Given the description of an element on the screen output the (x, y) to click on. 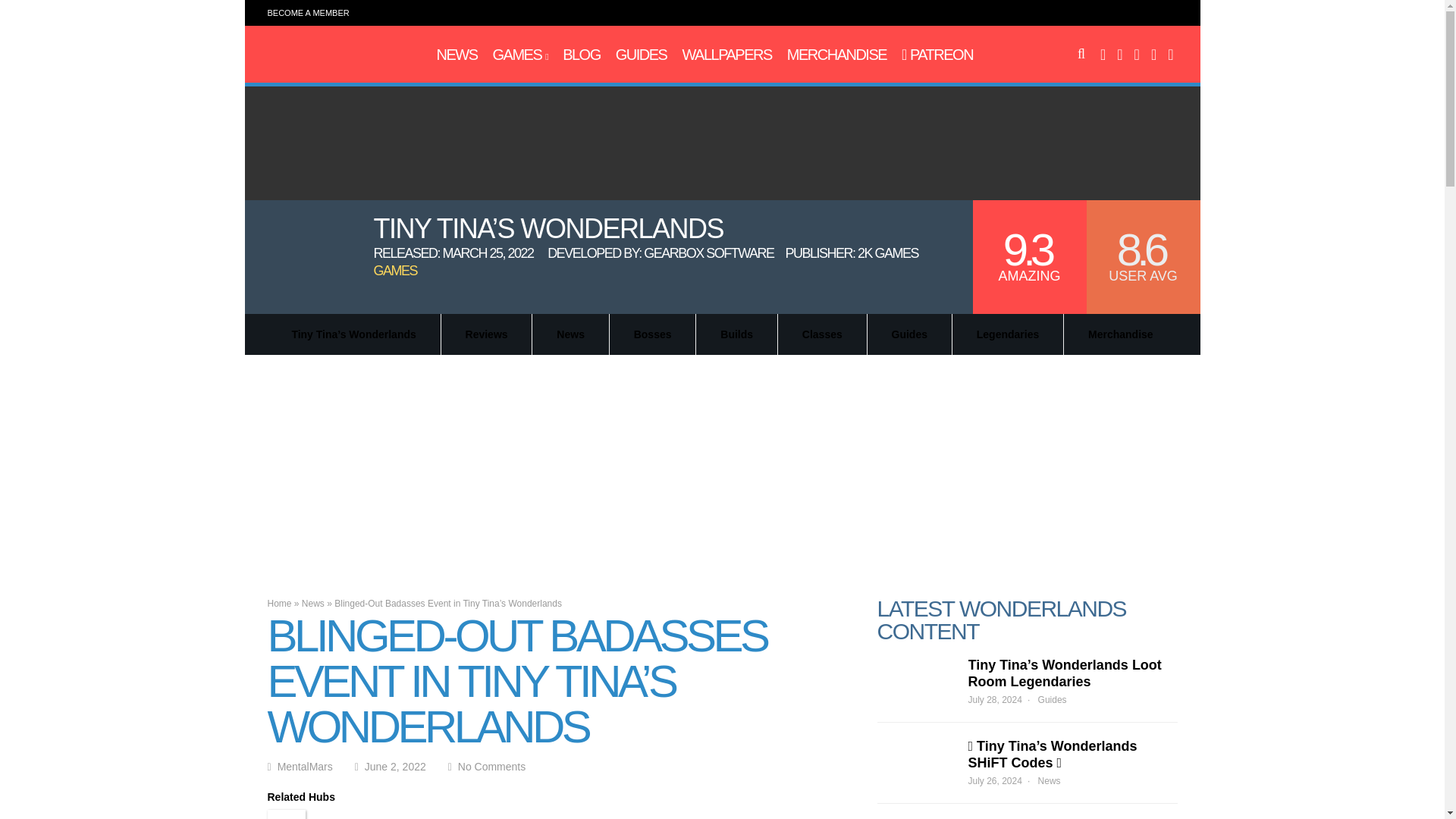
MERCHANDISE (836, 54)
PATREON (936, 54)
Blog (580, 54)
News (456, 54)
WALLPAPERS (726, 54)
Game Wallpapers (726, 54)
NEWS (456, 54)
BLOG (580, 54)
MentalMars (331, 62)
BECOME A MEMBER (307, 13)
